Given the description of an element on the screen output the (x, y) to click on. 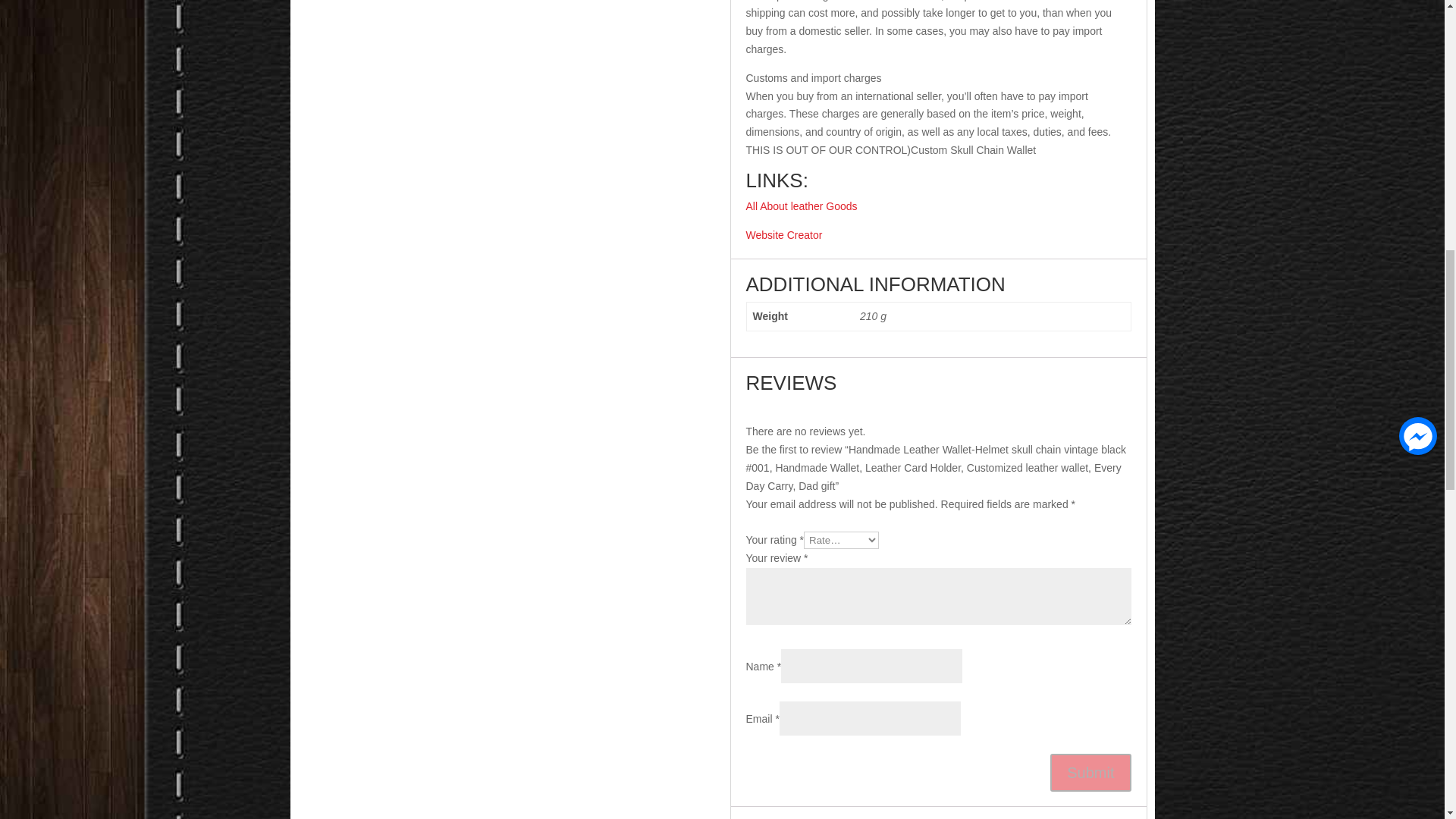
Submit (1090, 772)
